Given the description of an element on the screen output the (x, y) to click on. 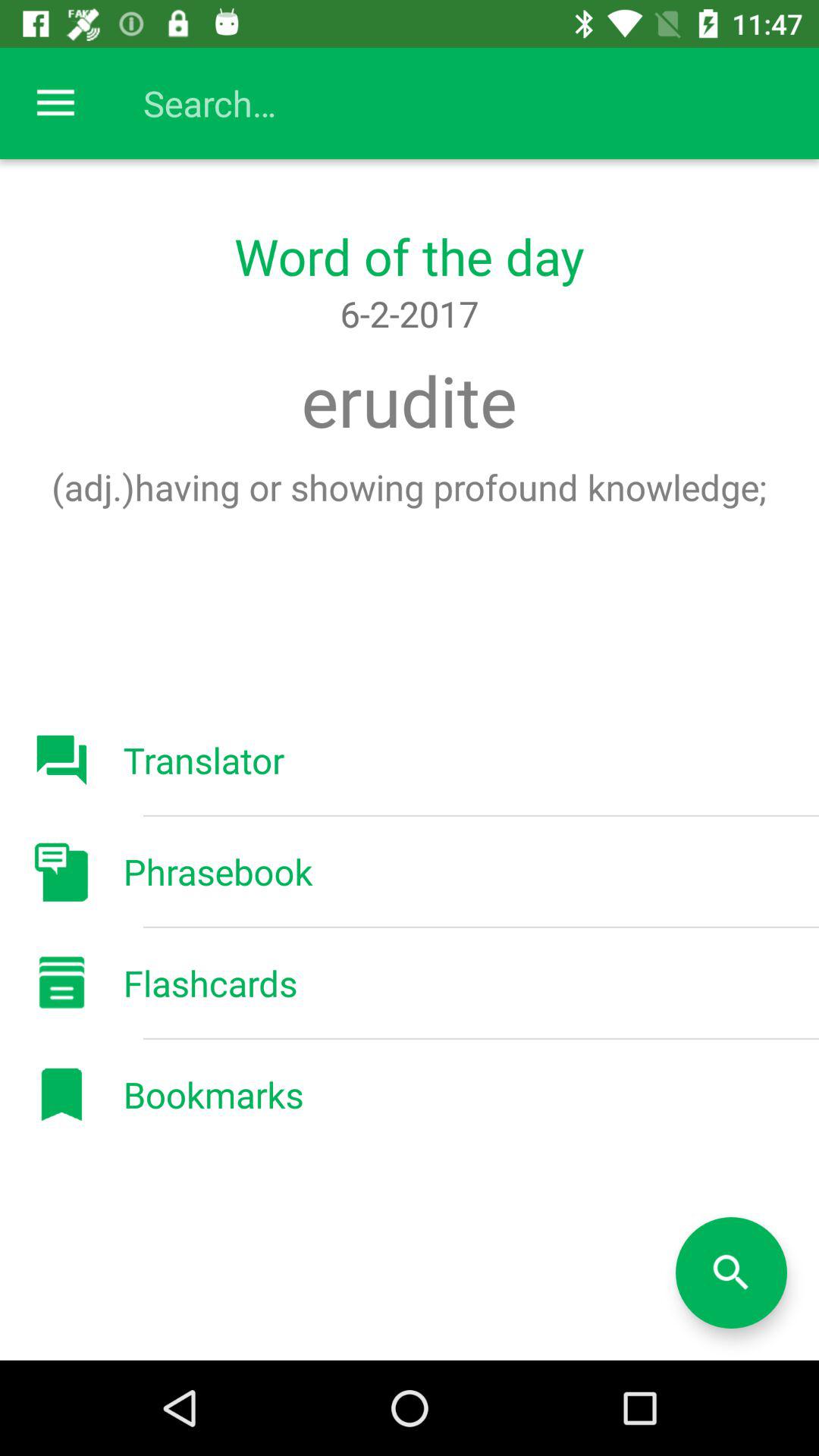
click icon at the top left corner (55, 103)
